Given the description of an element on the screen output the (x, y) to click on. 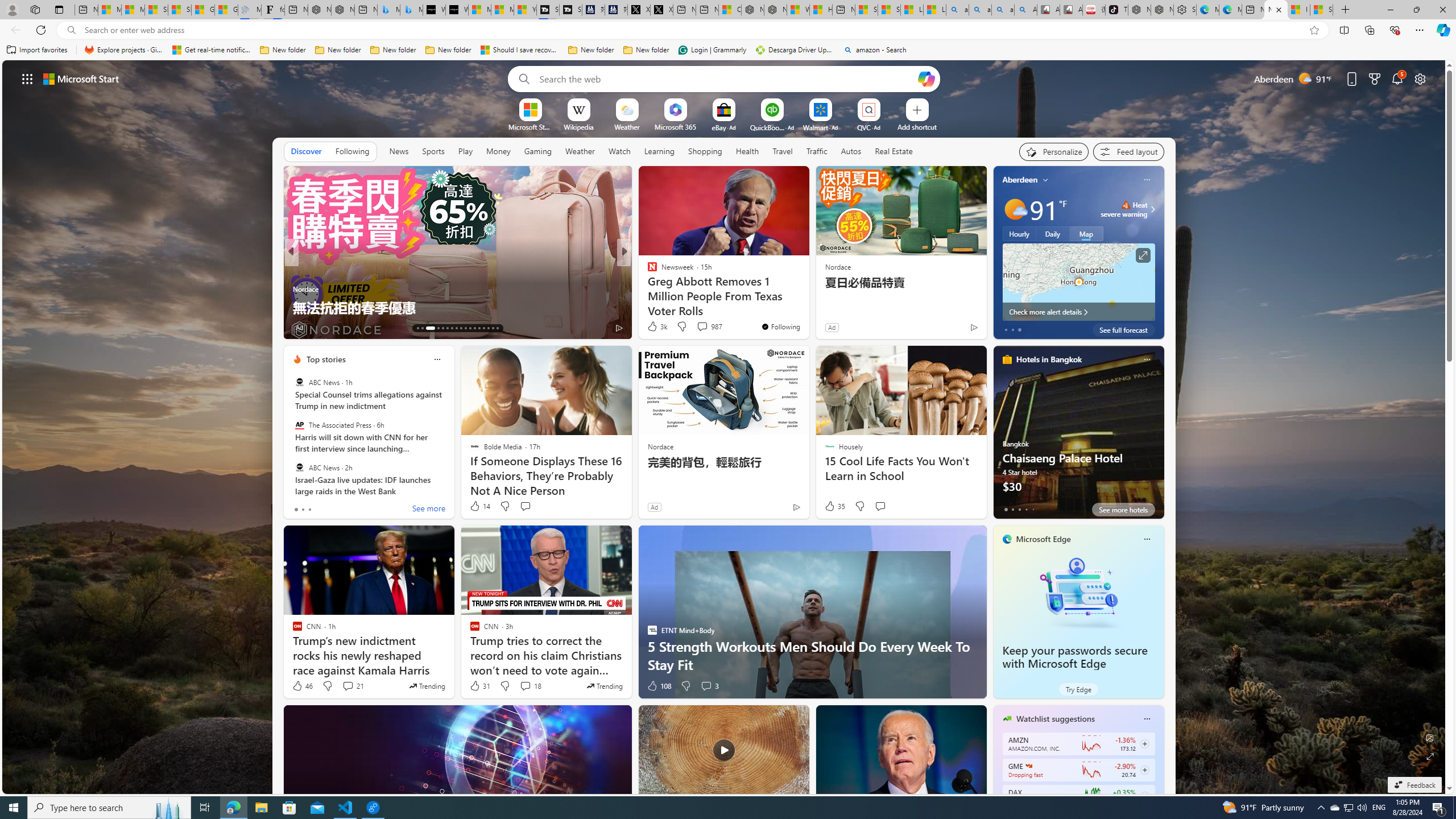
Edit Background (1430, 737)
View comments 17 Comment (707, 327)
46 Like (301, 685)
241 Like (654, 327)
Keep your passwords secure with Microsoft Edge (1077, 592)
379 Like (654, 327)
Daily (1052, 233)
My location (1045, 179)
Nordace.com (663, 288)
